Given the description of an element on the screen output the (x, y) to click on. 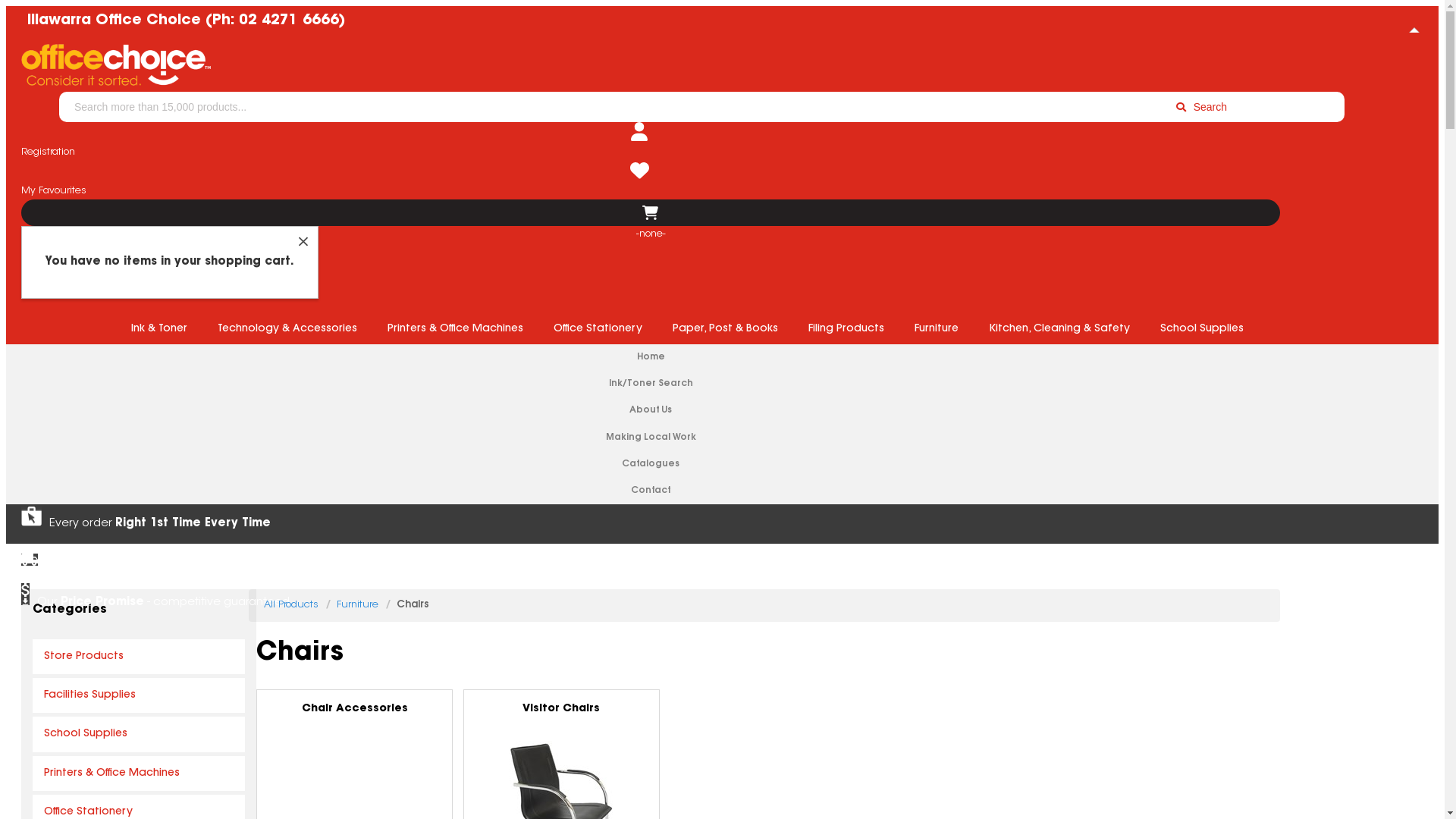
School Supplies Element type: text (1201, 328)
About Us Element type: text (650, 410)
School Supplies Element type: text (138, 733)
Printers & Office Machines Element type: text (454, 328)
Making Local Work Element type: text (650, 437)
Paper, Post & Books Element type: text (724, 328)
Contact Element type: text (650, 490)
Store Products Element type: text (138, 656)
-none- Element type: text (650, 212)
Search Element type: text (1201, 106)
Catalogues Element type: text (650, 464)
Chair Accessories Element type: text (354, 727)
Registration Element type: text (639, 141)
Home Element type: text (650, 357)
Facilities Supplies Element type: text (138, 694)
Furniture Element type: text (936, 328)
My Favourites Element type: text (639, 179)
Sign In Element type: text (51, 47)
Furniture Element type: text (357, 604)
Printers & Office Machines Element type: text (138, 773)
Kitchen, Cleaning & Safety Element type: text (1059, 328)
Ink/Toner Search Element type: text (650, 383)
Office Stationery Element type: text (597, 328)
Technology & Accessories Element type: text (286, 328)
All Products Element type: text (290, 604)
Filing Products Element type: text (846, 328)
Ink & Toner Element type: text (158, 328)
